Given the description of an element on the screen output the (x, y) to click on. 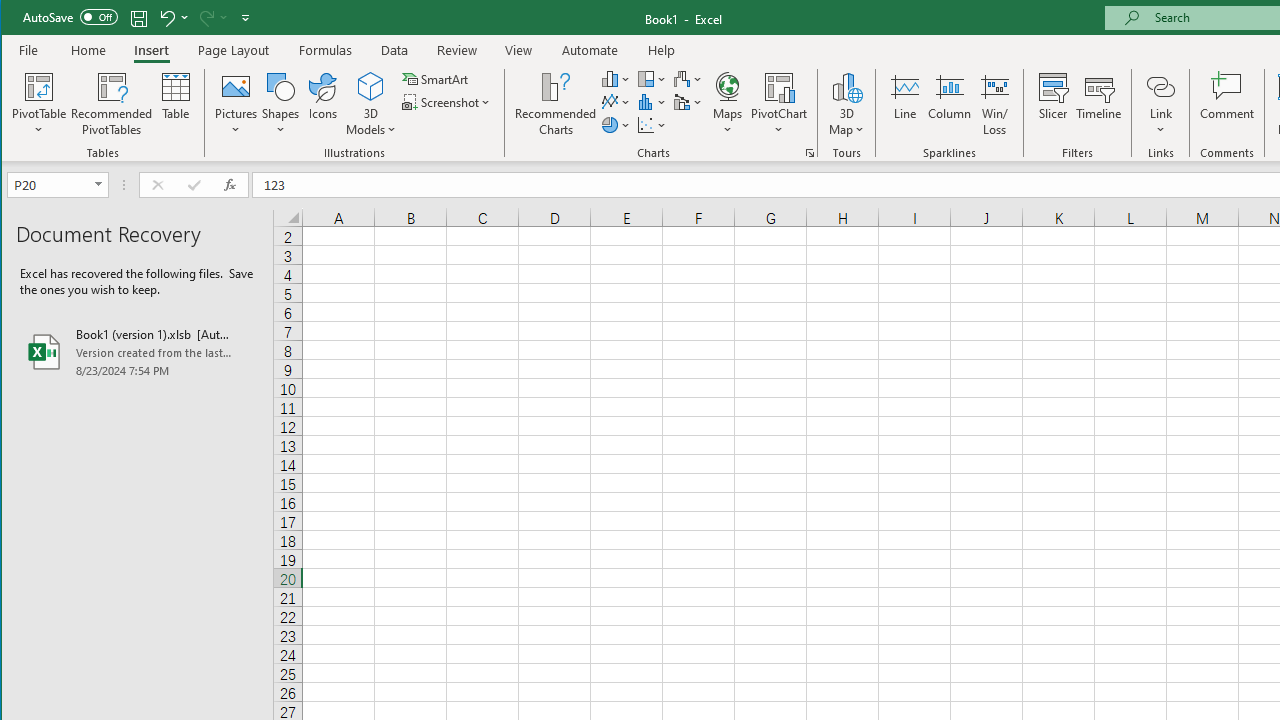
Insert Line or Area Chart (616, 101)
Link (1160, 104)
Screenshot (447, 101)
PivotChart (779, 86)
Maps (727, 104)
Insert Combo Chart (688, 101)
Recommended Charts (809, 152)
